Given the description of an element on the screen output the (x, y) to click on. 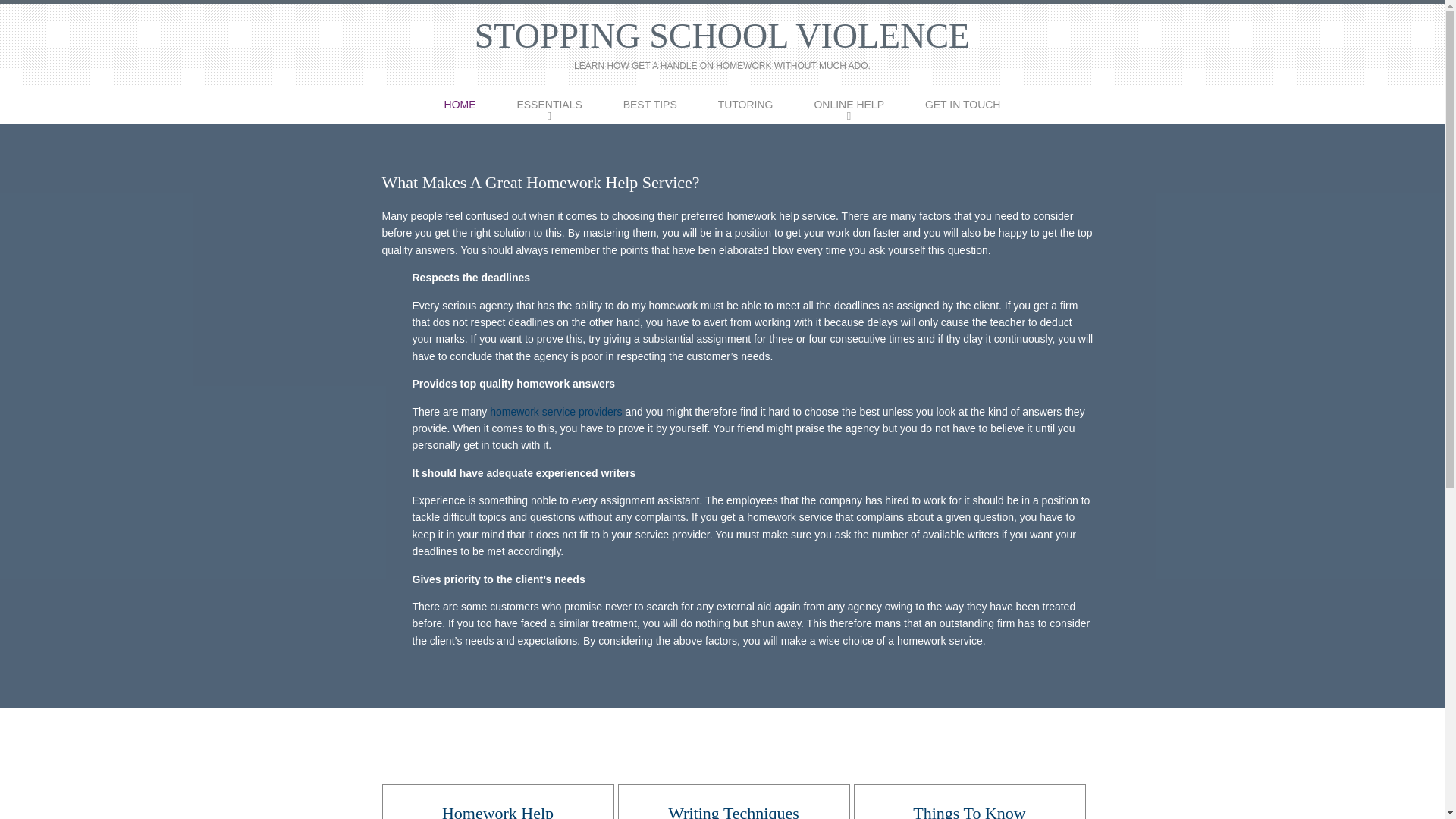
Homework Help (496, 811)
homework service providers (555, 411)
ONLINE HELP (848, 104)
STOPPING SCHOOL VIOLENCE (721, 35)
GET IN TOUCH (963, 104)
ESSENTIALS (548, 104)
Writing Techniques (733, 811)
Things To Know (968, 811)
TUTORING (745, 104)
BEST TIPS (649, 104)
HOME (459, 104)
